Given the description of an element on the screen output the (x, y) to click on. 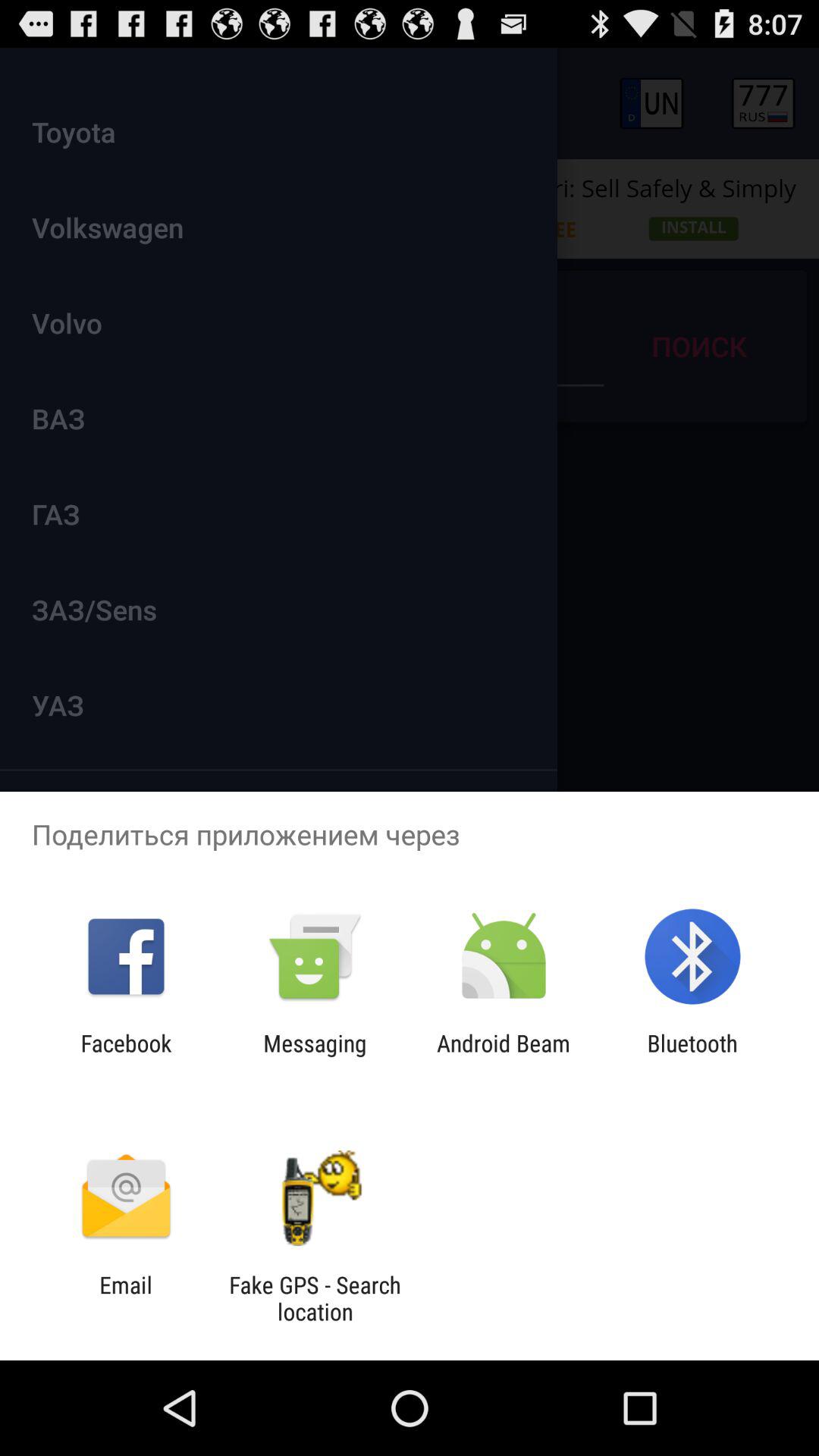
press the fake gps search item (314, 1298)
